Given the description of an element on the screen output the (x, y) to click on. 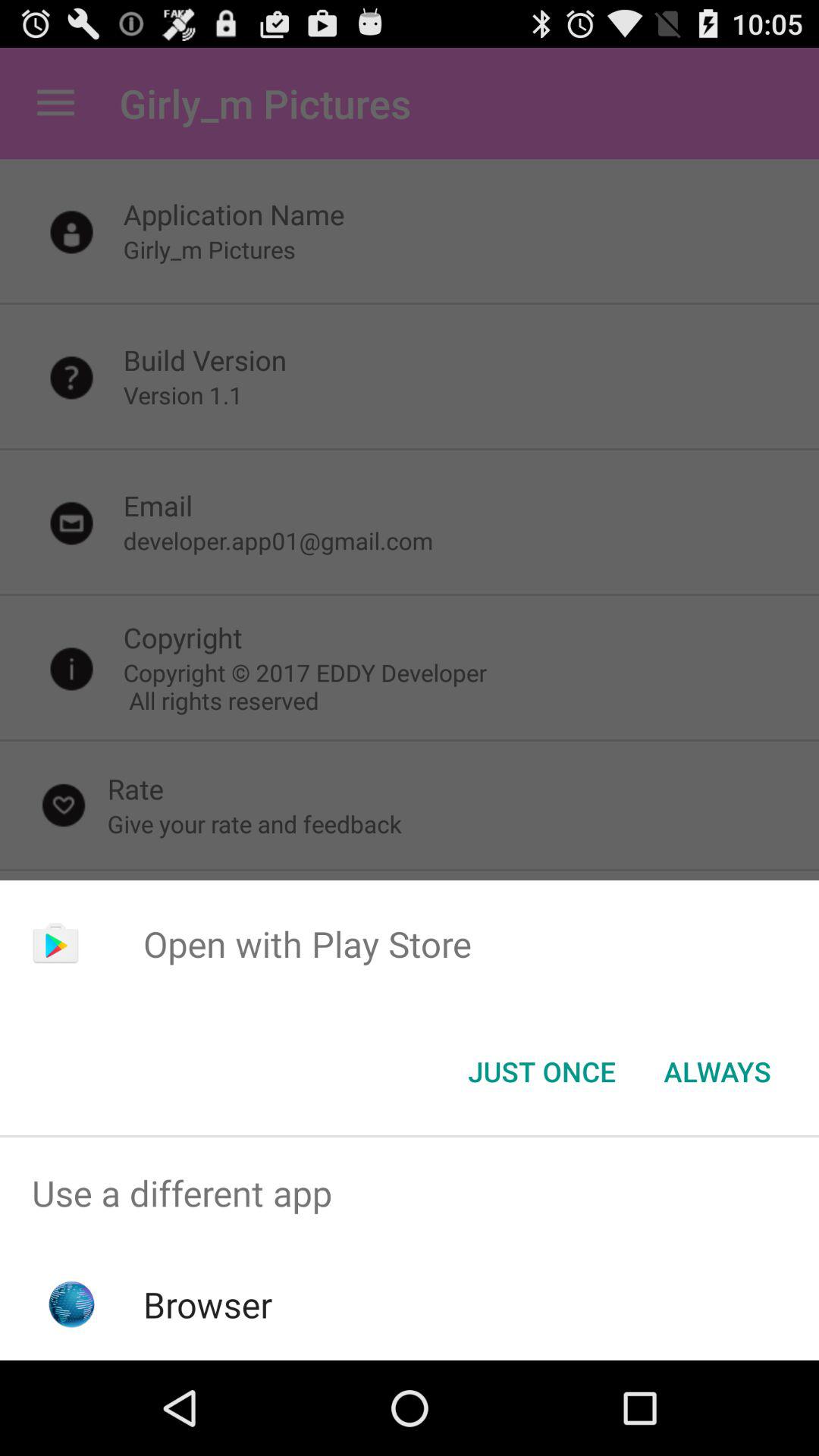
turn on use a different app (409, 1192)
